Given the description of an element on the screen output the (x, y) to click on. 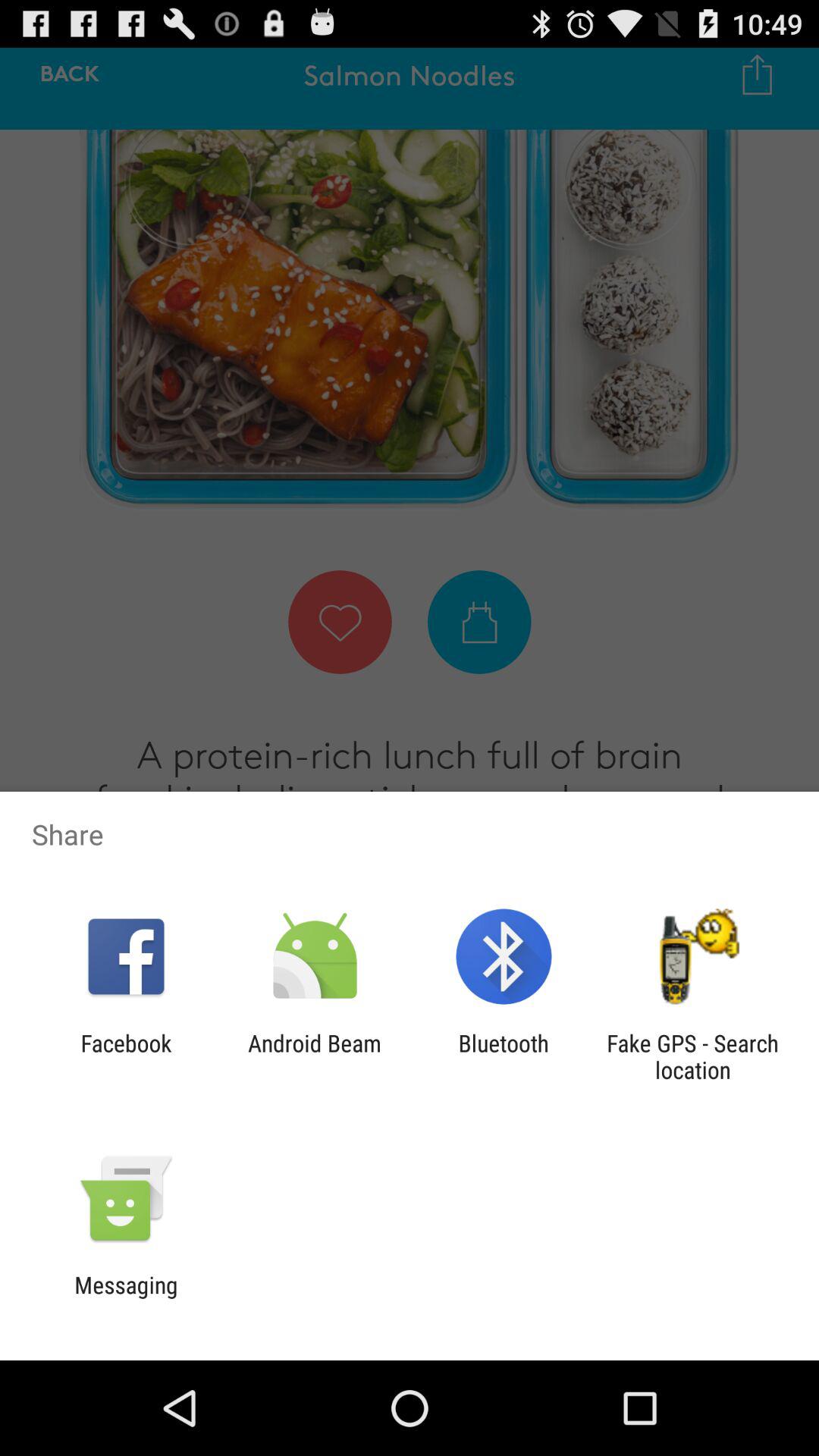
choose item next to bluetooth icon (692, 1056)
